Given the description of an element on the screen output the (x, y) to click on. 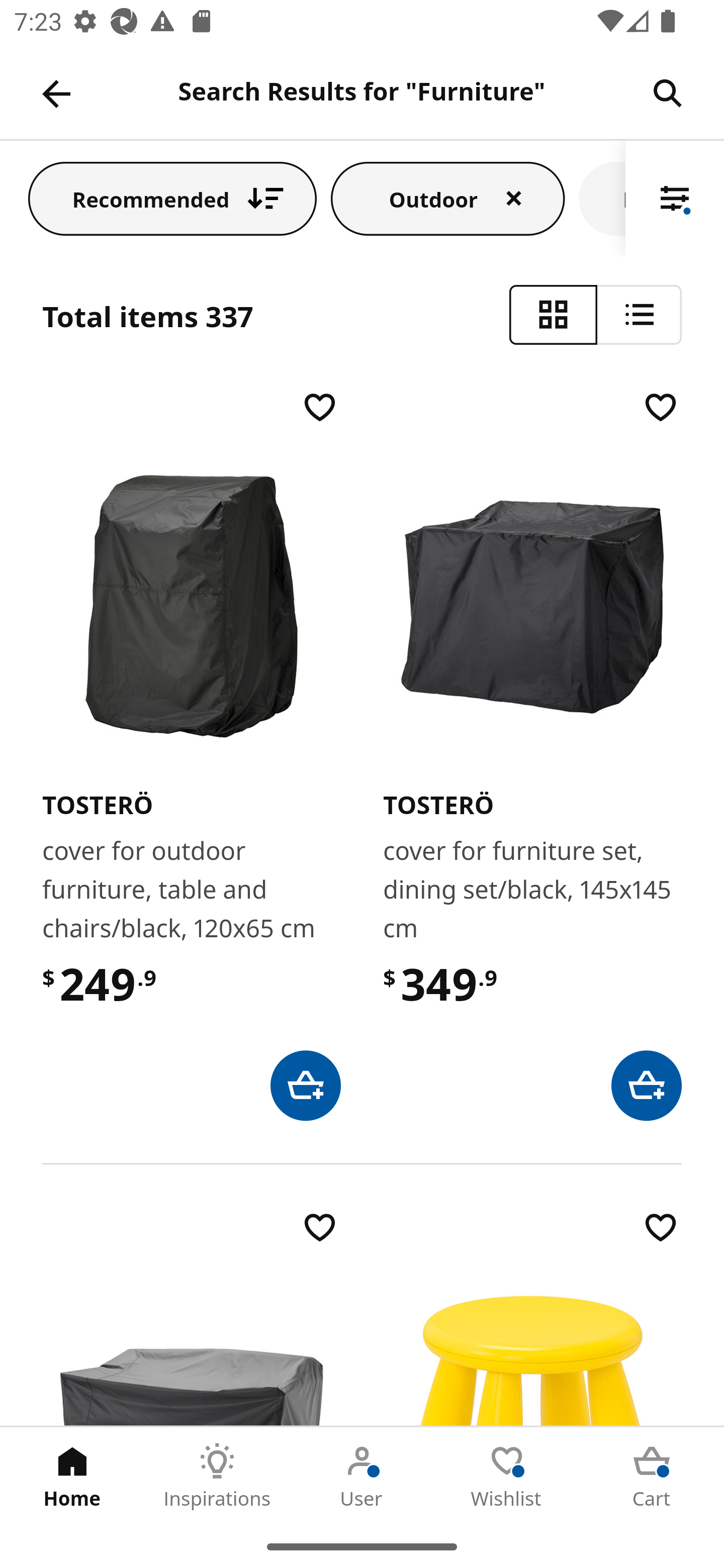
Recommended (172, 198)
Outdoor (447, 198)
Home
Tab 1 of 5 (72, 1476)
Inspirations
Tab 2 of 5 (216, 1476)
User
Tab 3 of 5 (361, 1476)
Wishlist
Tab 4 of 5 (506, 1476)
Cart
Tab 5 of 5 (651, 1476)
